Given the description of an element on the screen output the (x, y) to click on. 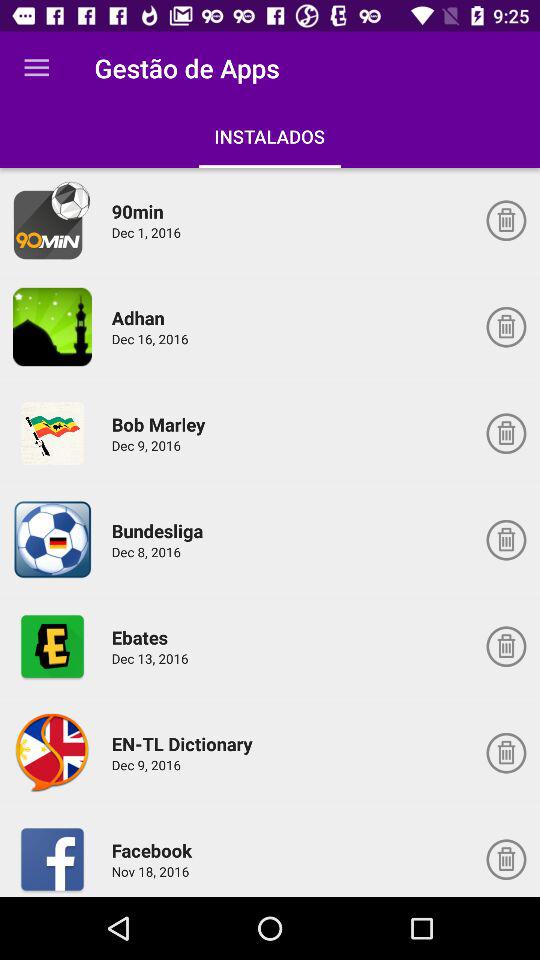
delete (505, 753)
